Given the description of an element on the screen output the (x, y) to click on. 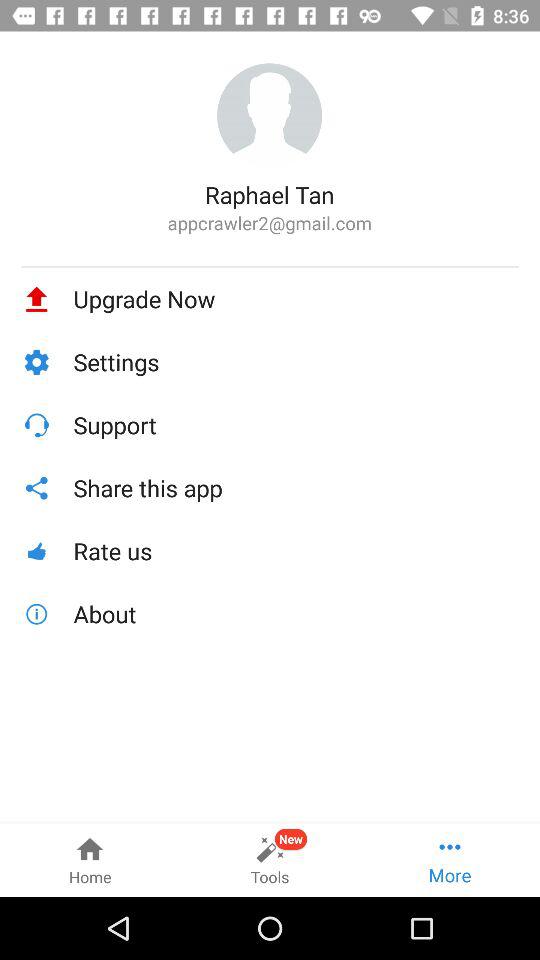
turn off the icon below the share this app item (296, 550)
